Given the description of an element on the screen output the (x, y) to click on. 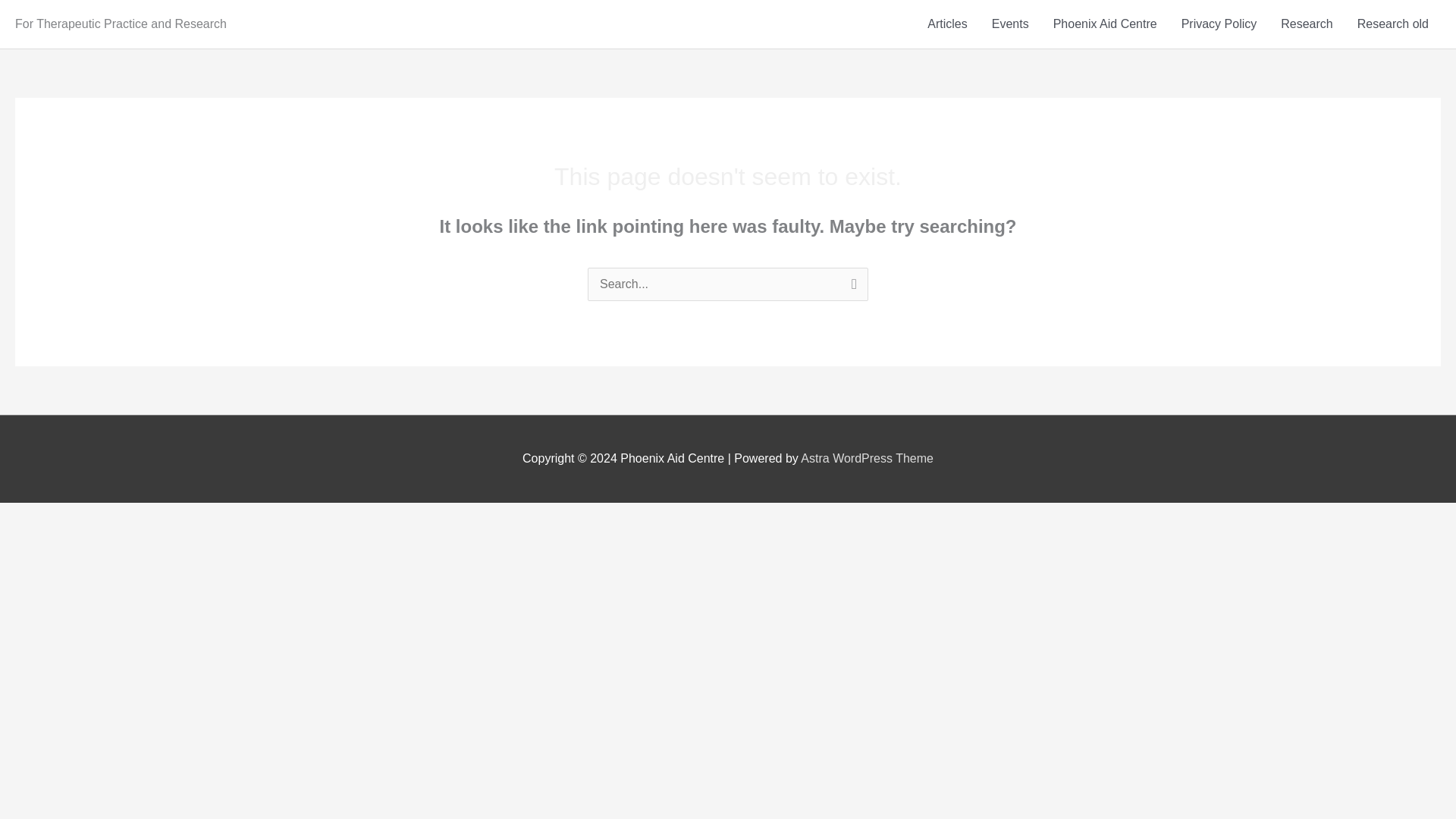
Events (1010, 24)
Phoenix Aid Centre (1105, 24)
Privacy Policy (1219, 24)
Astra WordPress Theme (866, 458)
Articles (946, 24)
Research (1305, 24)
Research old (1393, 24)
